Given the description of an element on the screen output the (x, y) to click on. 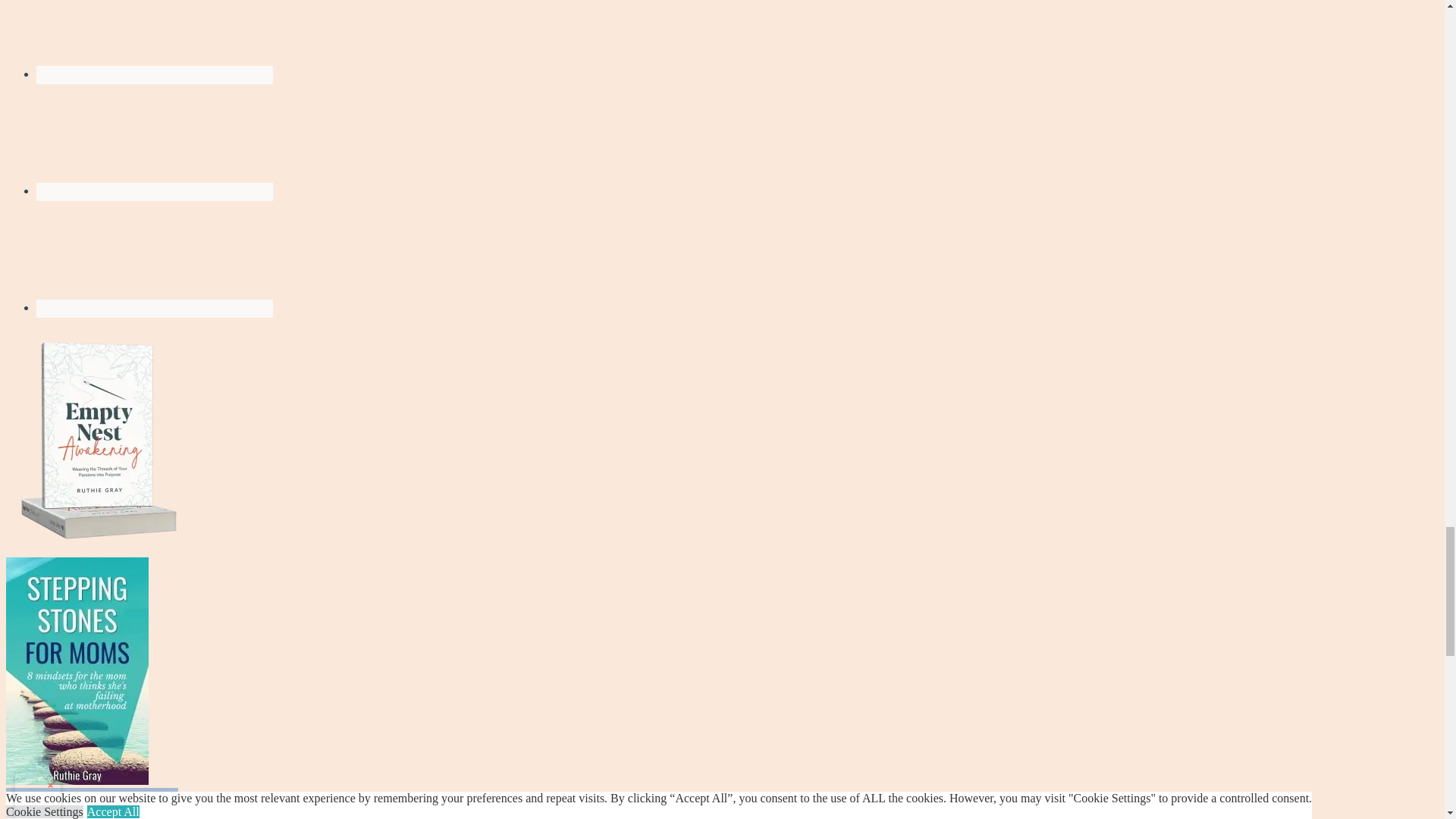
Instagram (154, 191)
Instagram (153, 137)
Pinterest (153, 255)
Pinterest (154, 308)
